Given the description of an element on the screen output the (x, y) to click on. 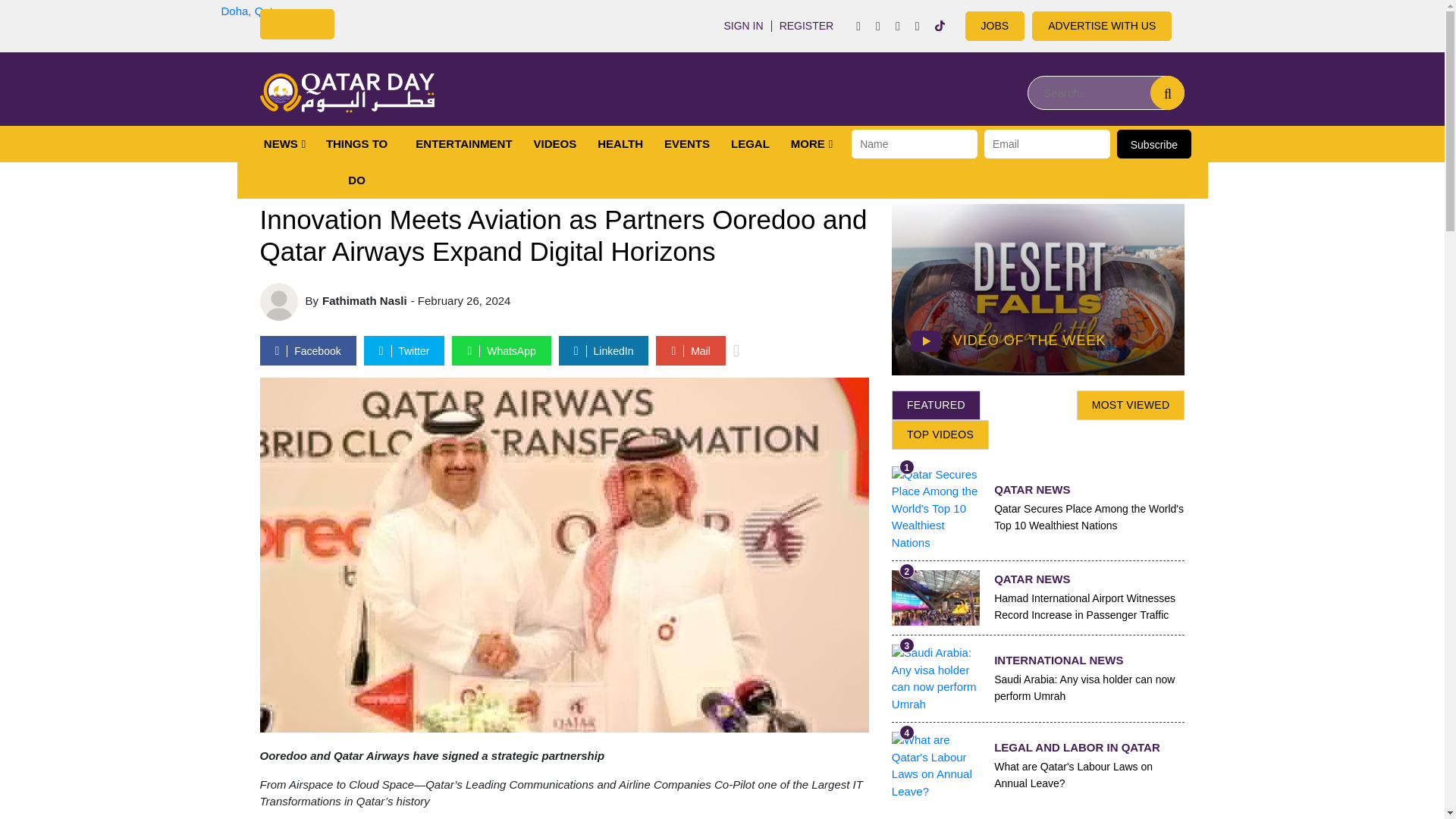
VIDEOS (555, 144)
THINGS TO DO (357, 162)
ADVERTISE WITH US (1102, 25)
Advertise (1102, 25)
Home (346, 92)
HEALTH (619, 144)
REGISTER (806, 25)
NEWS (280, 144)
MORE (807, 144)
Facebook (857, 25)
